Given the description of an element on the screen output the (x, y) to click on. 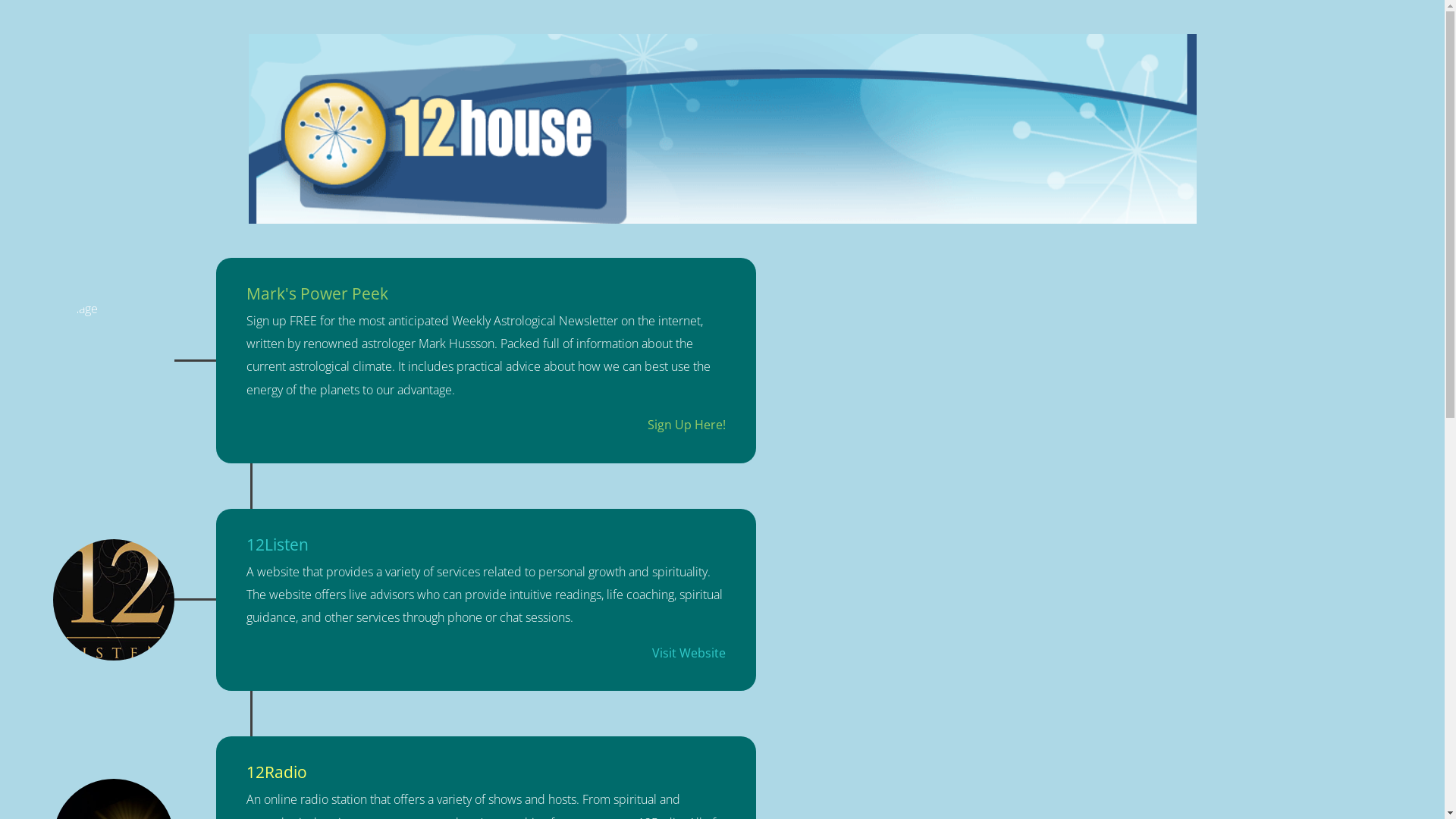
Sign Up Here! Element type: text (686, 424)
Visit Website Element type: text (688, 652)
